Given the description of an element on the screen output the (x, y) to click on. 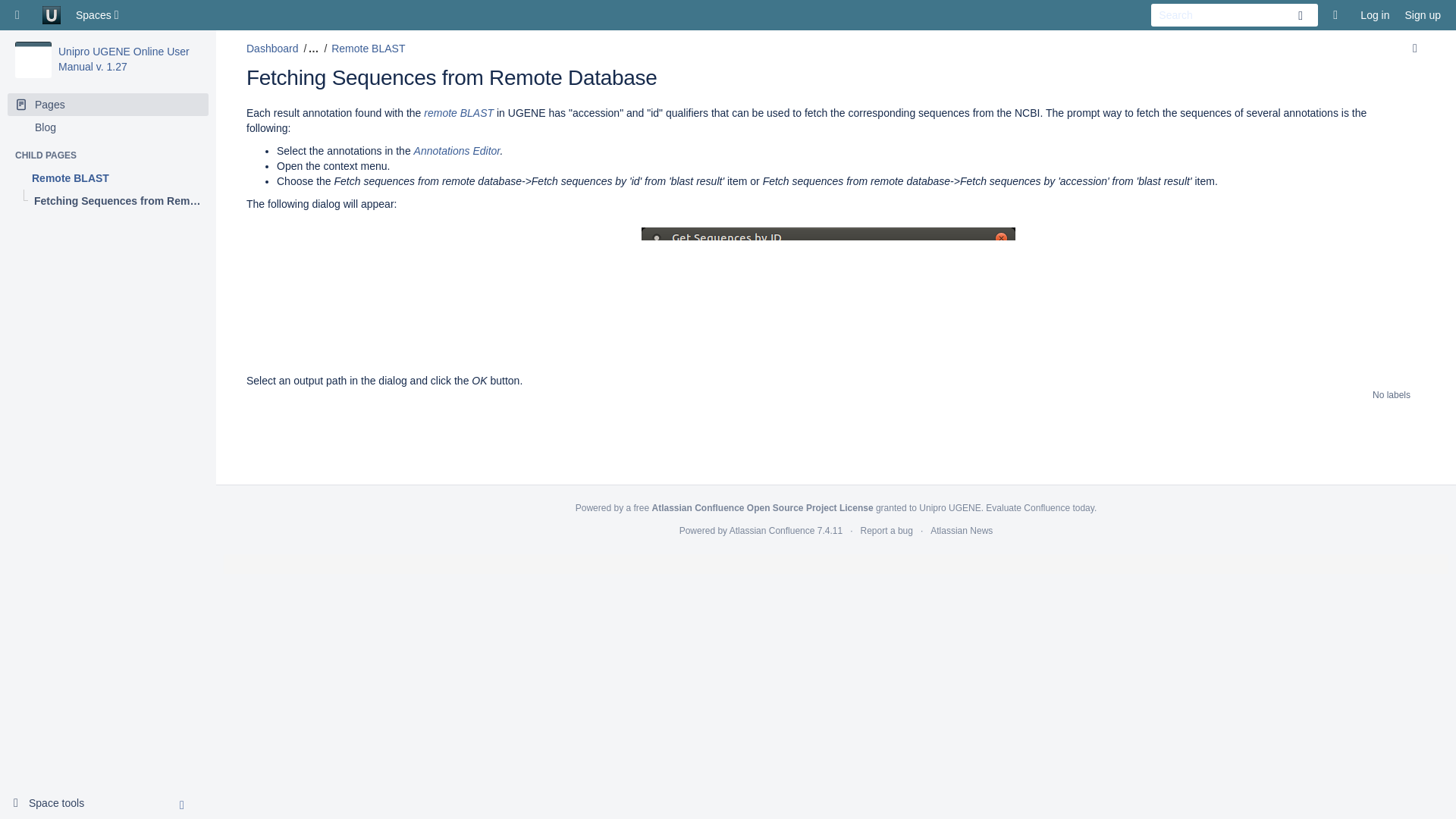
Help (1338, 15)
Blog (107, 127)
ConfigureSpace tools (54, 803)
Unipro UGENE Online User Manual v. 1.27 (123, 58)
Spaces (98, 15)
Help (1338, 15)
Log in (1374, 15)
Remote BLAST (107, 178)
Linked Applications (20, 15)
Pages (107, 104)
